Given the description of an element on the screen output the (x, y) to click on. 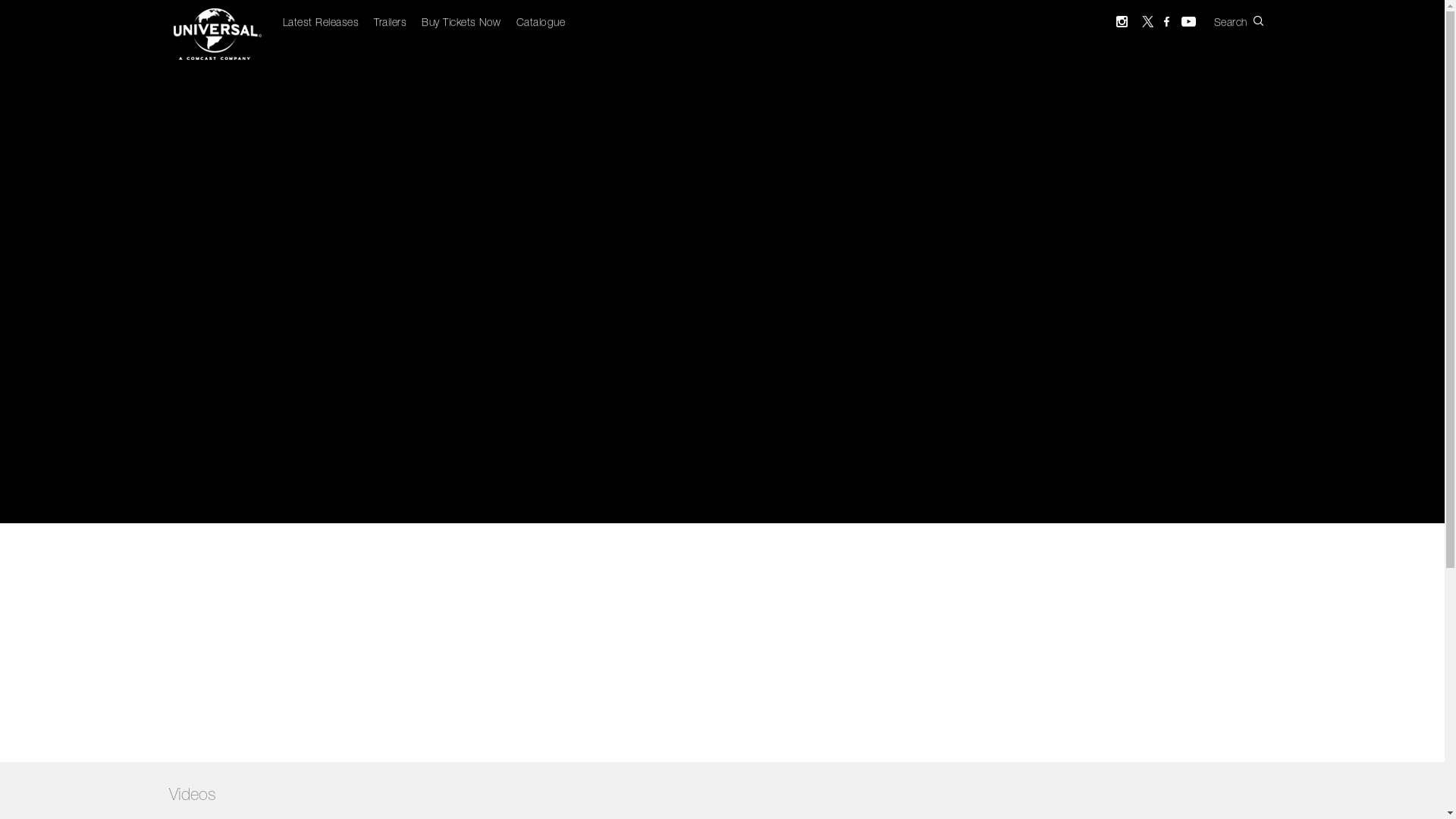
Catalogue Element type: text (540, 23)
Latest Releases Element type: text (320, 23)
Trailers Element type: text (390, 23)
Search Element type: text (1249, 21)
Videos Element type: text (191, 795)
Buy Tickets Now Element type: text (461, 23)
